Given the description of an element on the screen output the (x, y) to click on. 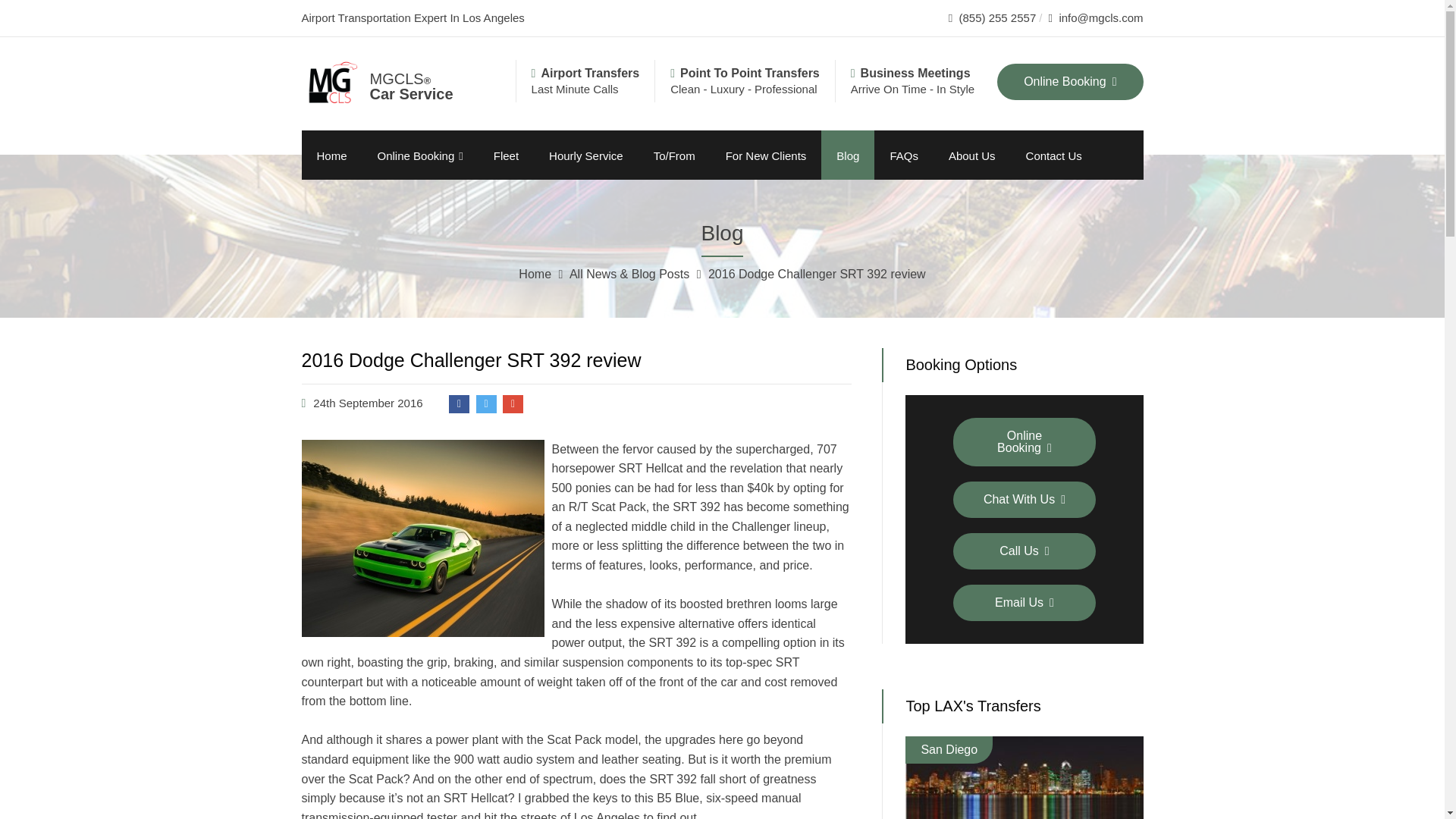
Chat With Us (1024, 499)
Fleet (506, 154)
Go To Home (536, 273)
About Us (971, 154)
Online Booking (420, 155)
Go To 2016 Dodge Challenger SRT 392 review (816, 273)
Online Booking (1024, 441)
FAQs (904, 154)
Mike G California Limousine Service (418, 78)
Home (331, 154)
